Given the description of an element on the screen output the (x, y) to click on. 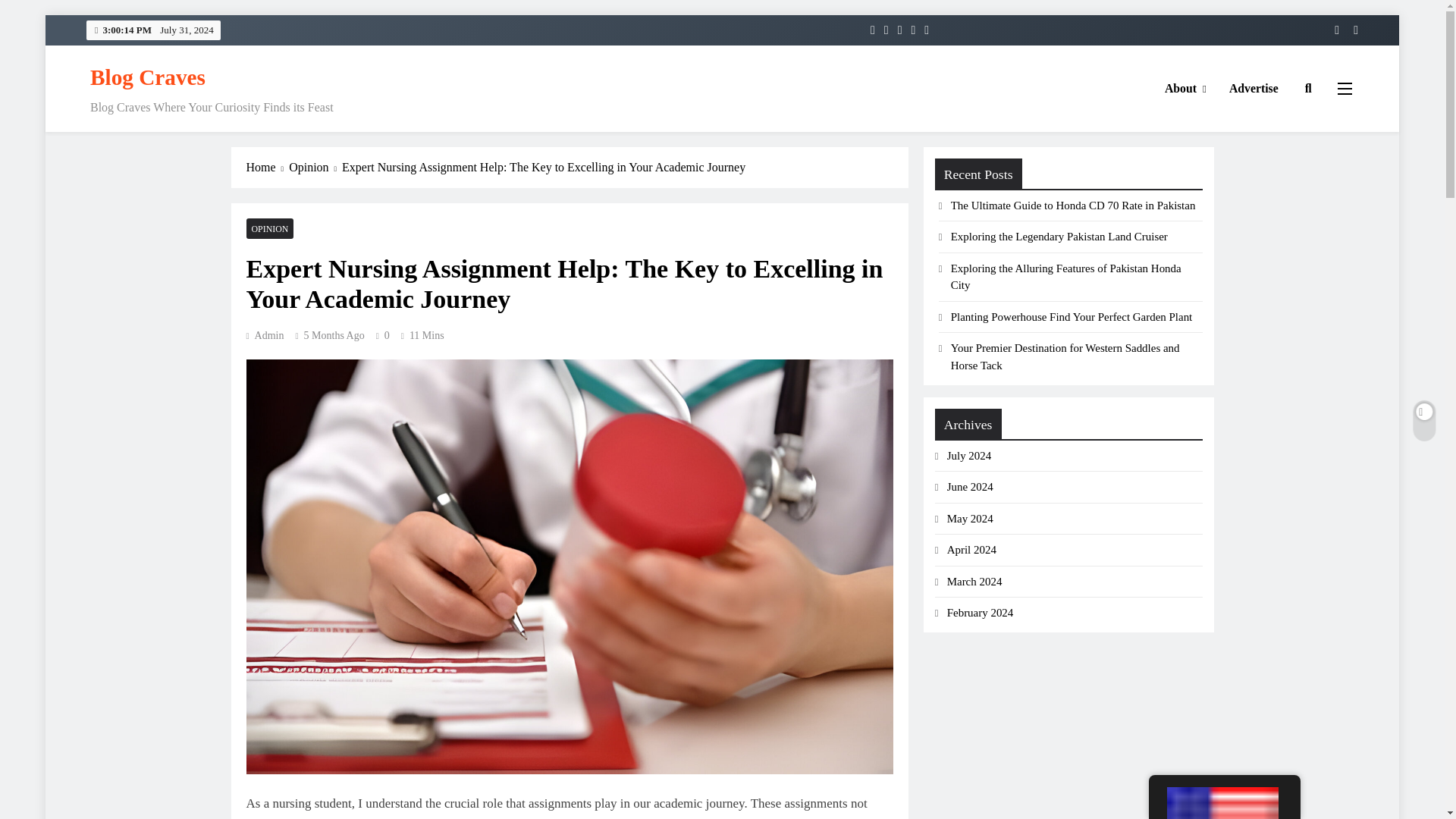
Advertise (1253, 87)
About (1185, 88)
Blog Craves (147, 77)
English (1222, 803)
